Given the description of an element on the screen output the (x, y) to click on. 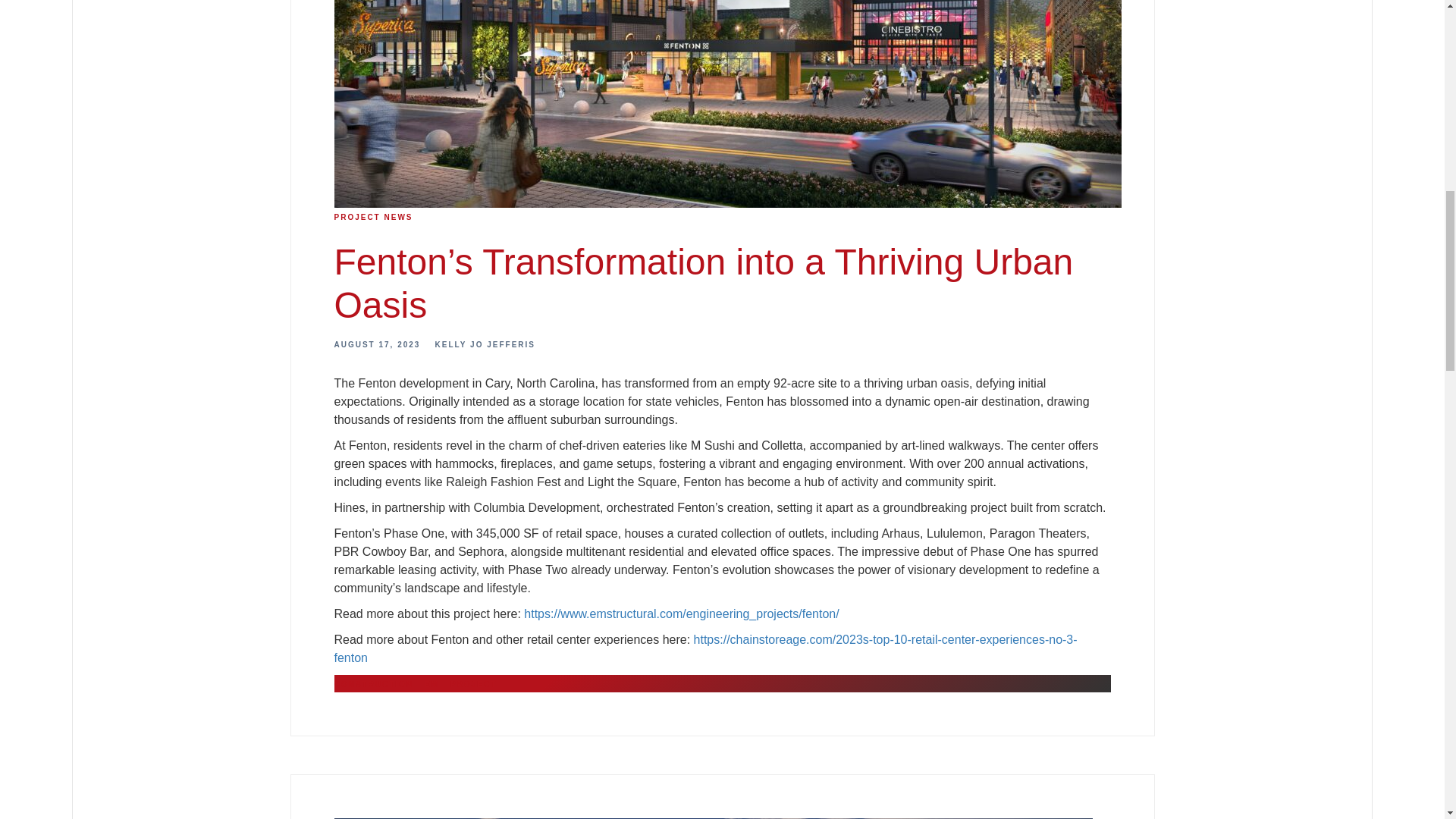
PROJECT (472, 684)
AUGUST 17, 2023 (376, 344)
KELLY JO JEFFERIS (485, 344)
PROJECT NEWS (372, 216)
CONSTRUCTION (373, 684)
EM (432, 684)
